Given the description of an element on the screen output the (x, y) to click on. 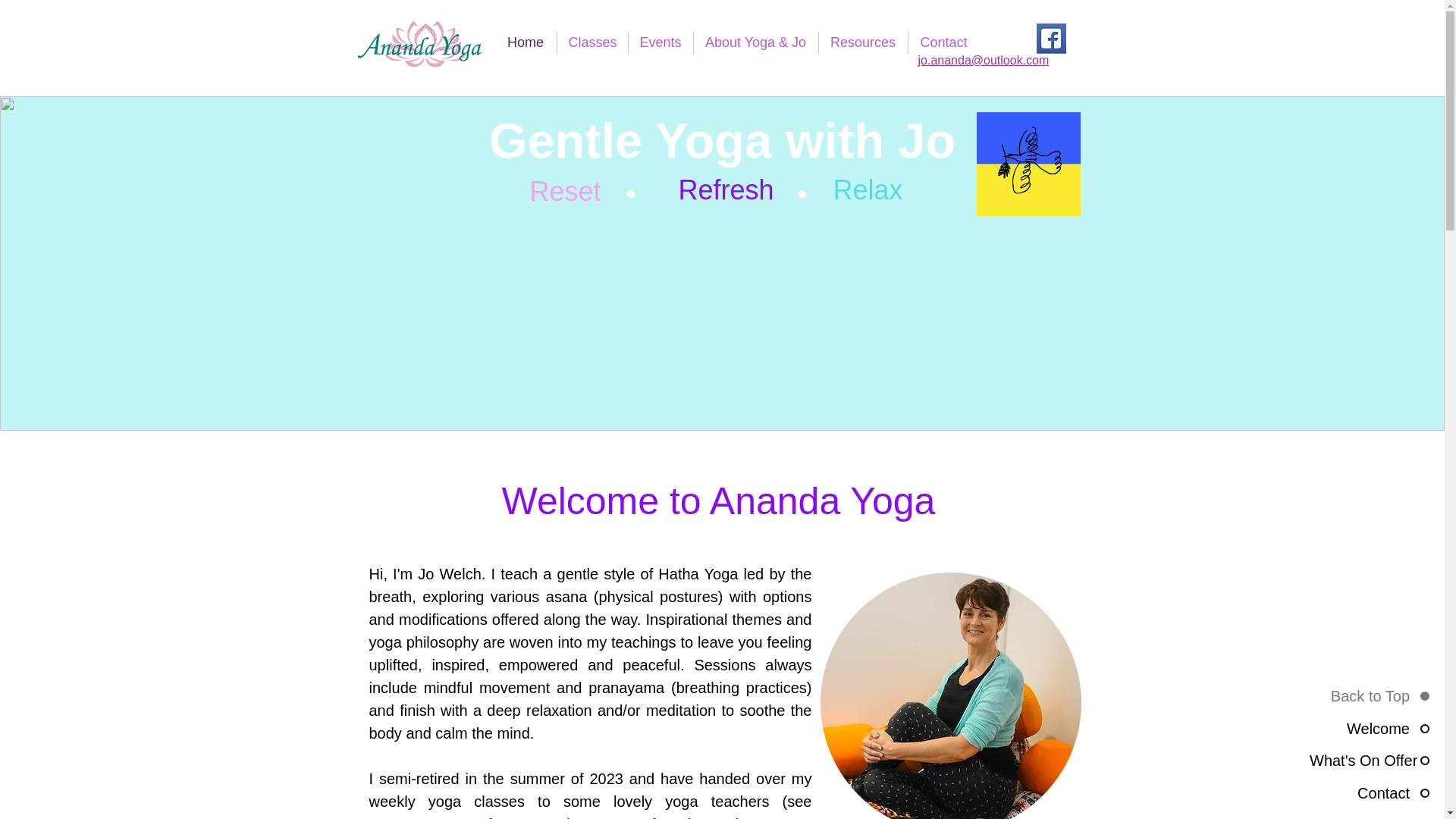
Events (660, 42)
Contact (943, 42)
What's On Offer (1368, 760)
Resources (862, 42)
Back to Top (1368, 695)
Classes (591, 42)
Welcome (1368, 728)
Home (525, 42)
Resources Page (424, 817)
